Given the description of an element on the screen output the (x, y) to click on. 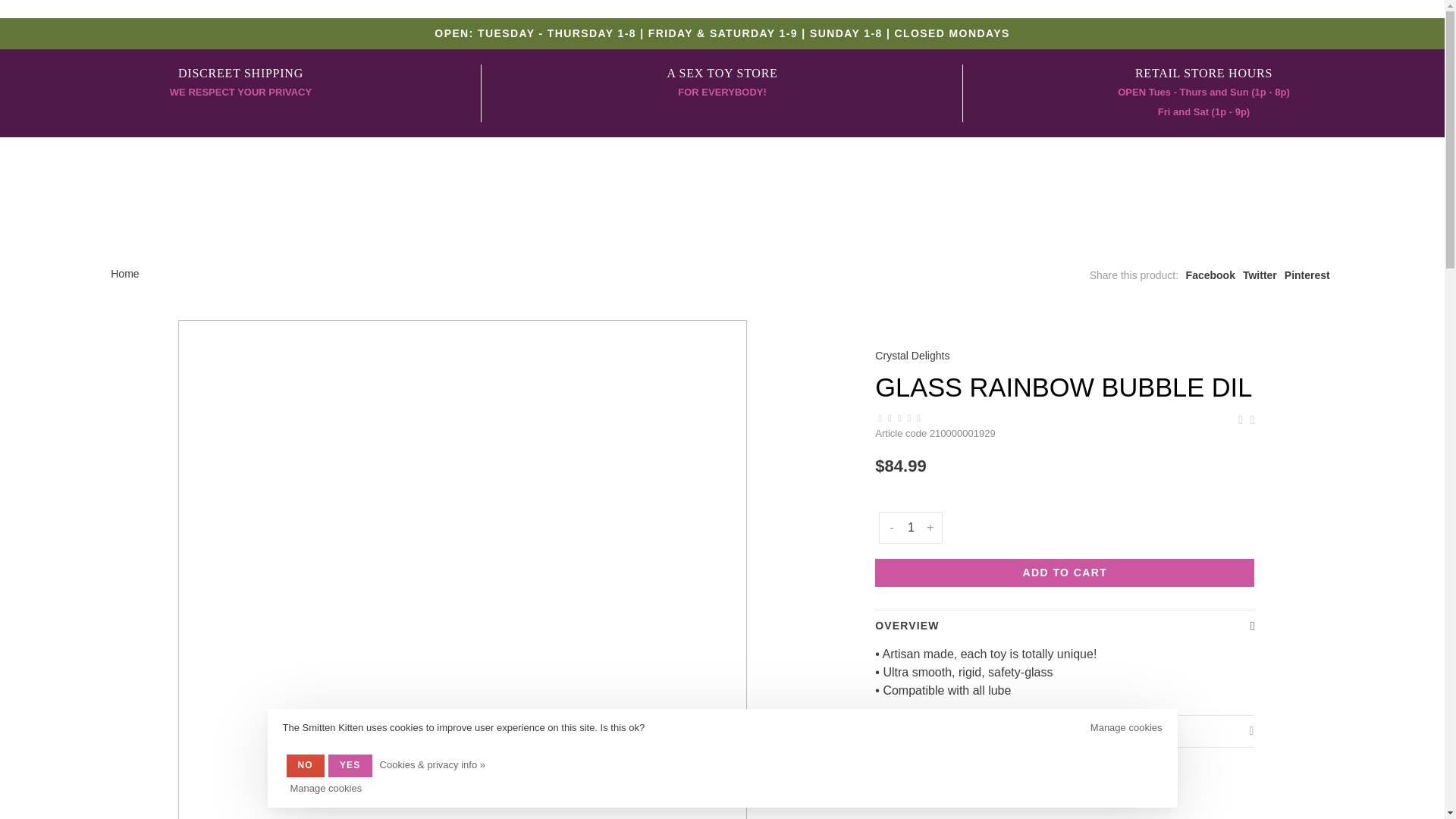
1 (722, 83)
